Given the description of an element on the screen output the (x, y) to click on. 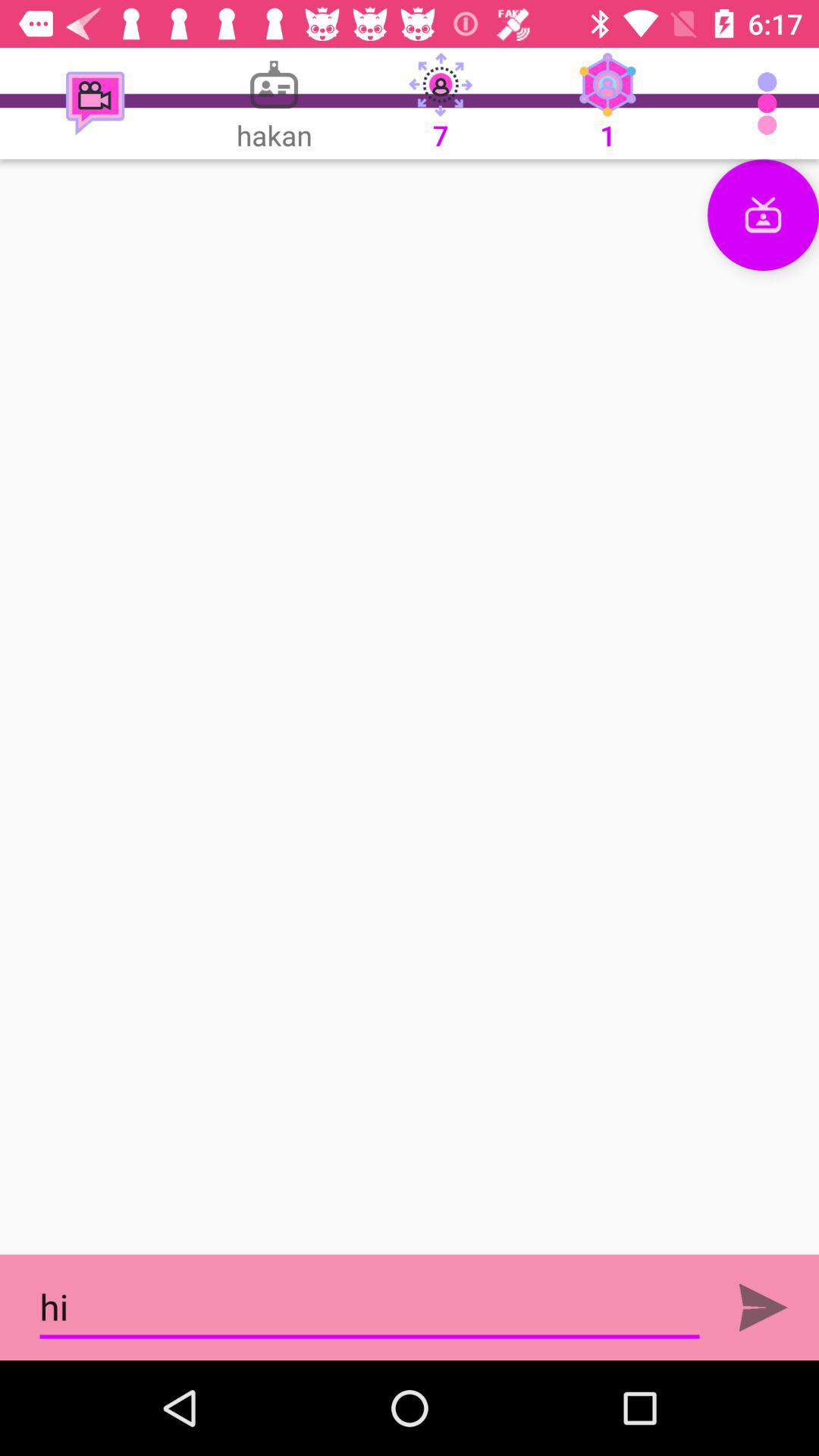
to start chat (409, 706)
